Given the description of an element on the screen output the (x, y) to click on. 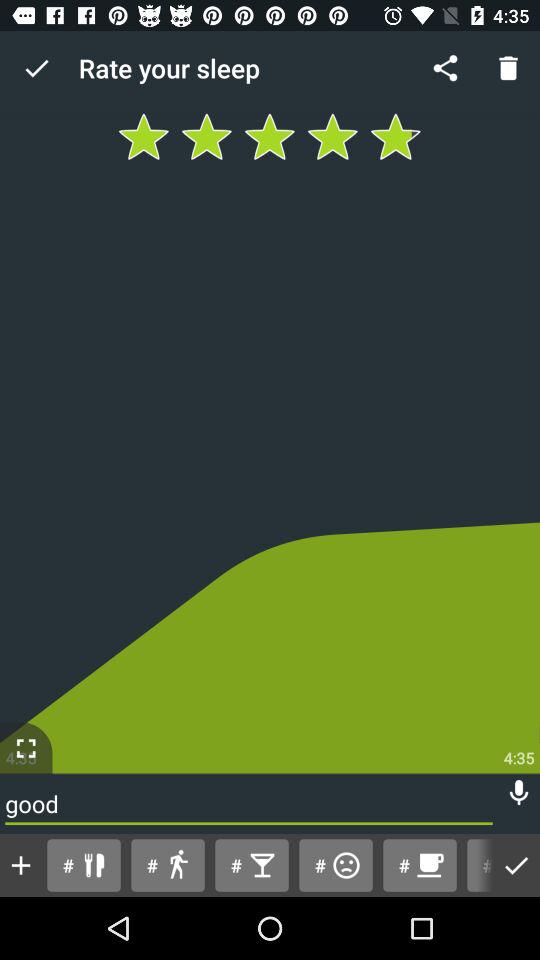
turn off the button to the left of # button (419, 864)
